Given the description of an element on the screen output the (x, y) to click on. 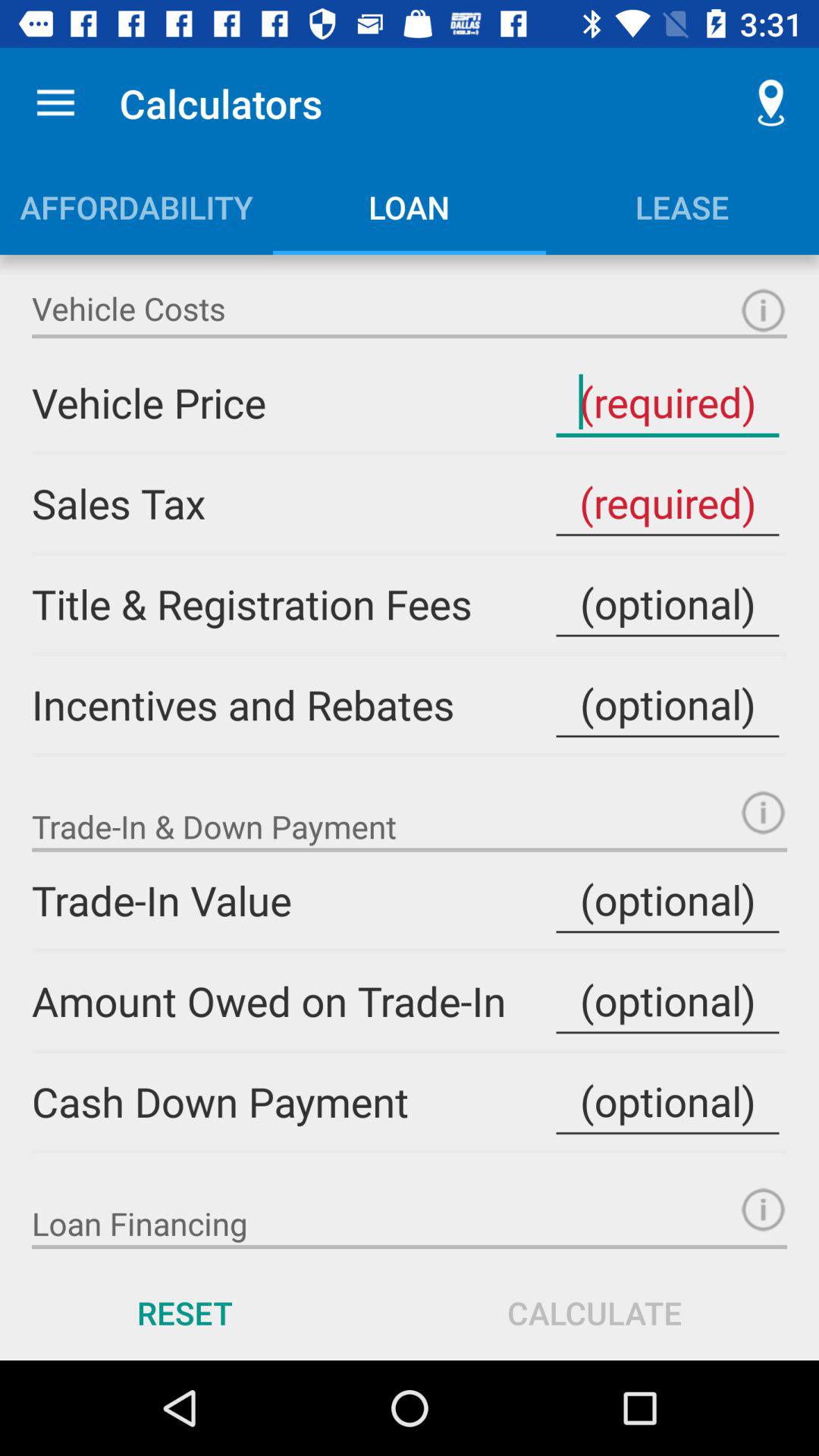
launch the icon above the lease (771, 103)
